Given the description of an element on the screen output the (x, y) to click on. 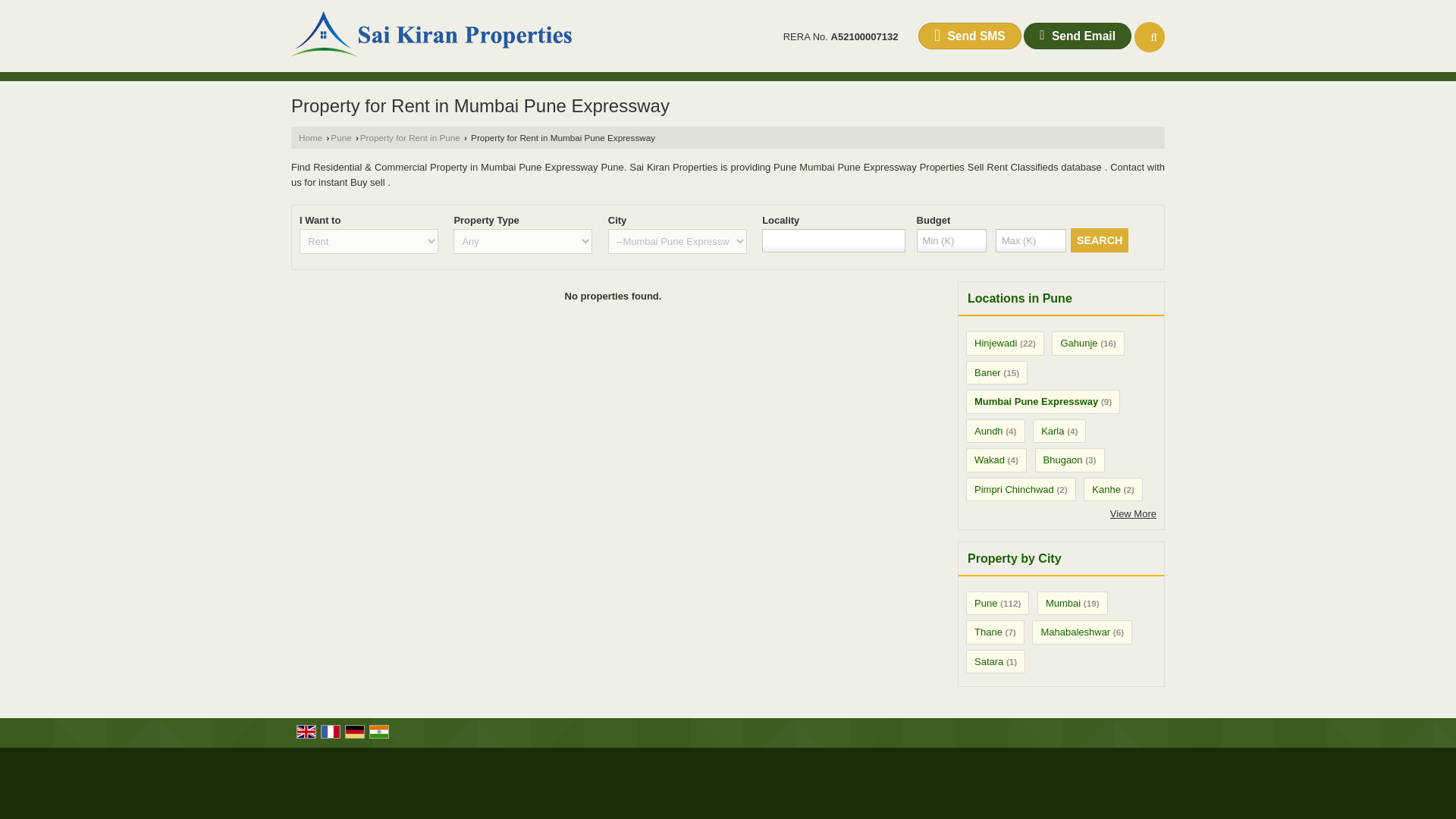
Send SMS (970, 35)
Search (1149, 37)
Sai Kiran Properties (433, 35)
SEARCH (1099, 239)
Send Email (1077, 35)
